Given the description of an element on the screen output the (x, y) to click on. 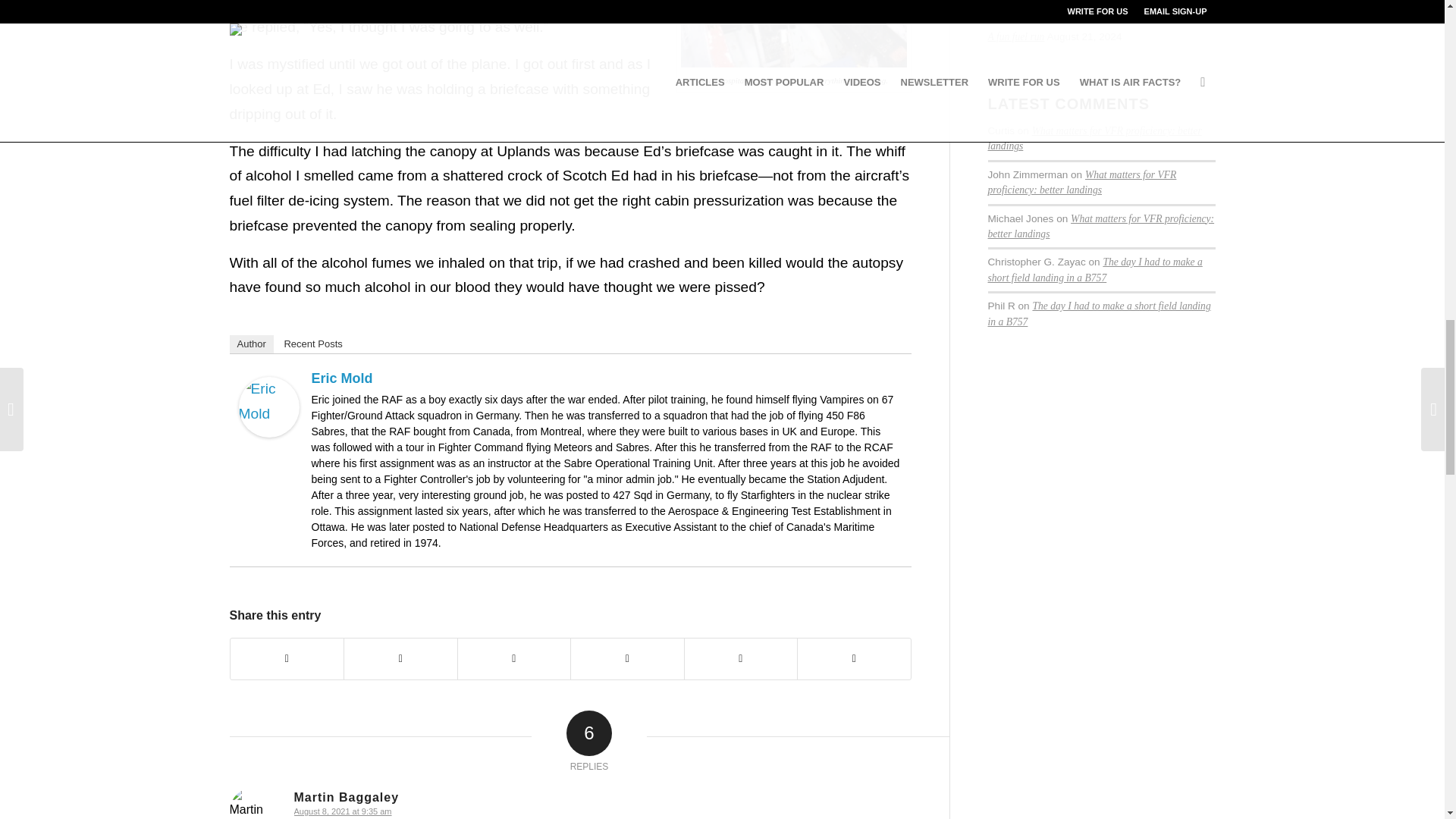
Author (250, 343)
Recent Posts (312, 343)
Eric Mold (268, 432)
Eric Mold (341, 378)
